Given the description of an element on the screen output the (x, y) to click on. 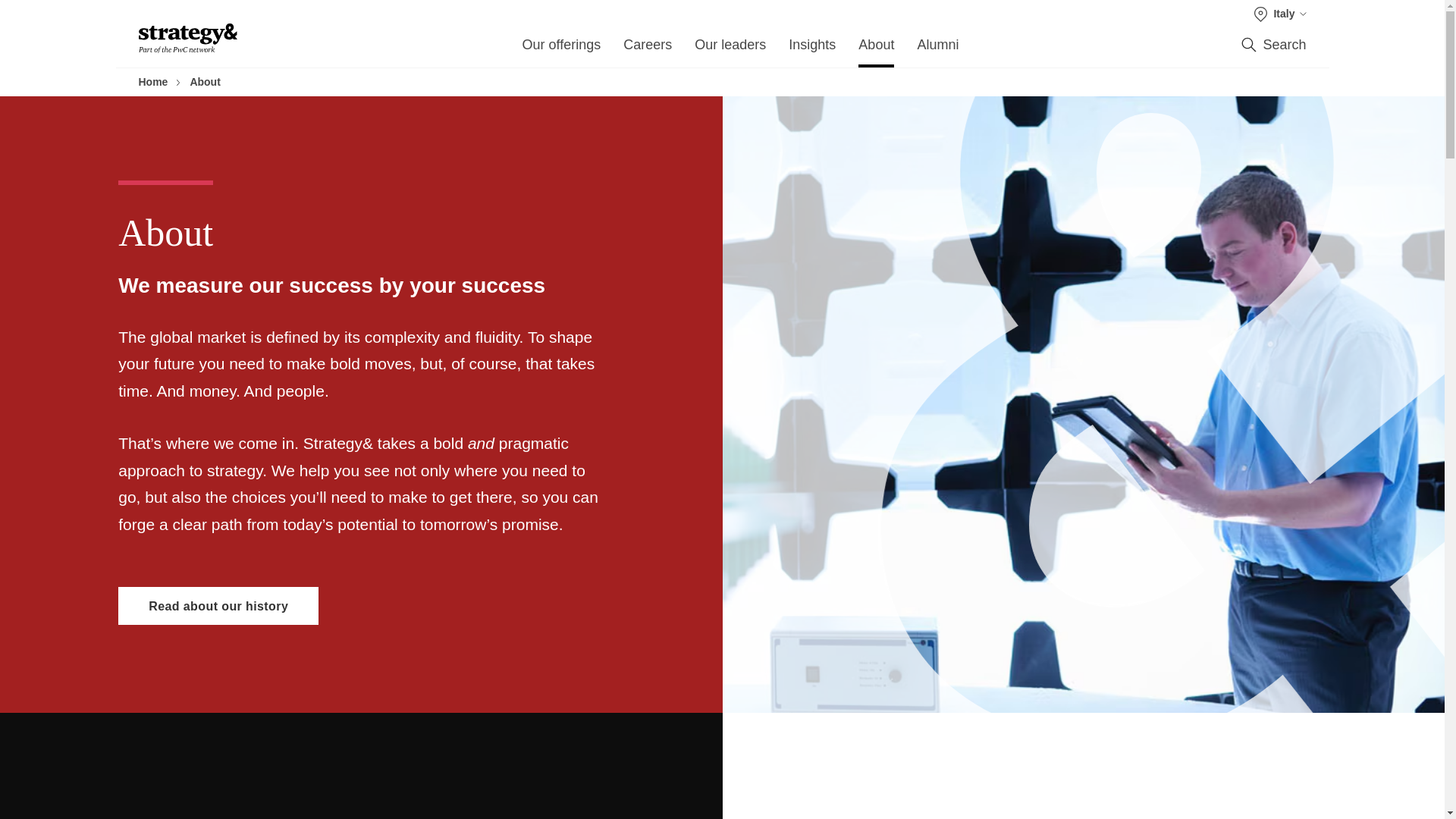
Insights (812, 49)
Our leaders (729, 49)
Alumni (937, 49)
About (876, 49)
Italy (1279, 13)
Our offerings (560, 49)
Careers (647, 49)
